Given the description of an element on the screen output the (x, y) to click on. 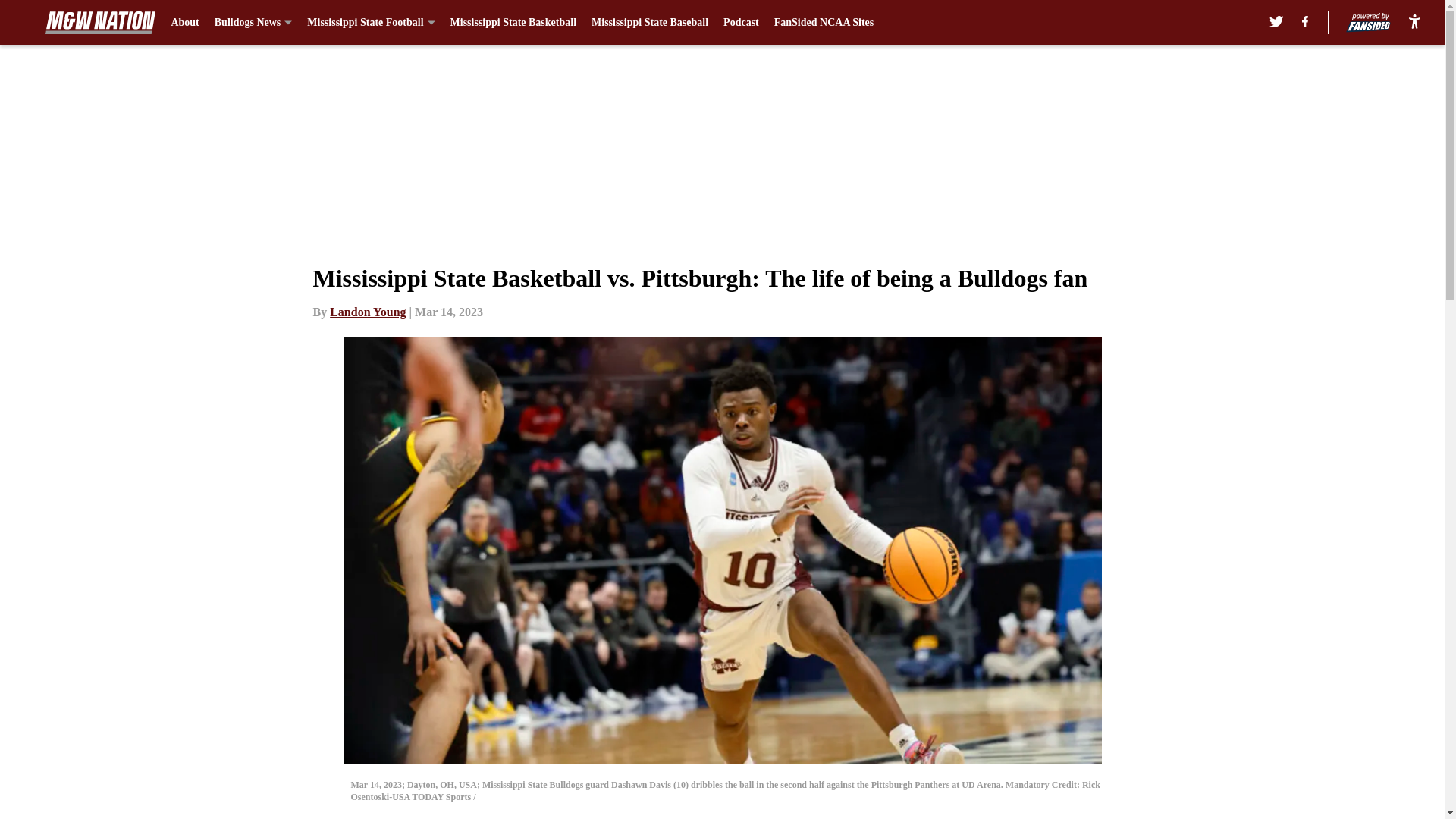
FanSided NCAA Sites (823, 22)
About (184, 22)
Mississippi State Baseball (649, 22)
Landon Young (368, 311)
Podcast (740, 22)
Mississippi State Basketball (512, 22)
